Given the description of an element on the screen output the (x, y) to click on. 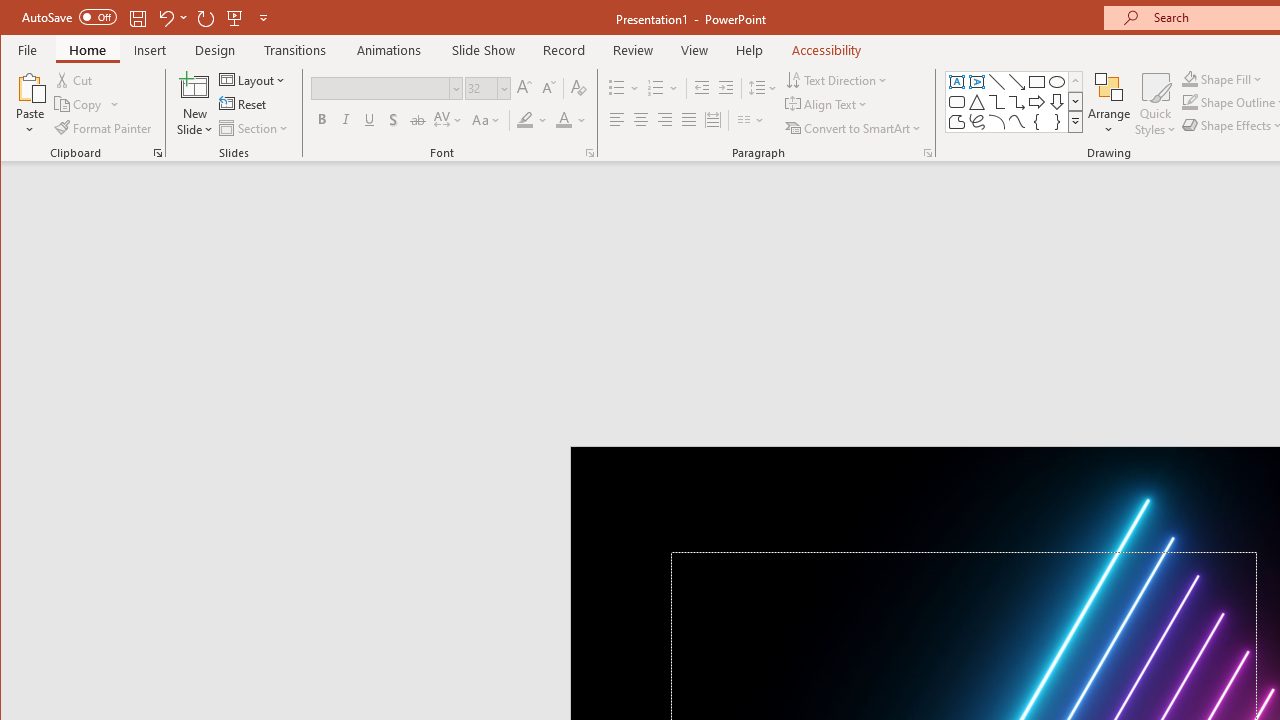
Isosceles Triangle (976, 102)
Bold (321, 119)
Line Arrow (1016, 82)
Shape Fill Orange, Accent 2 (1189, 78)
Reset (244, 103)
Section (255, 127)
Freeform: Scribble (976, 121)
Change Case (486, 119)
Office Clipboard... (157, 152)
